Given the description of an element on the screen output the (x, y) to click on. 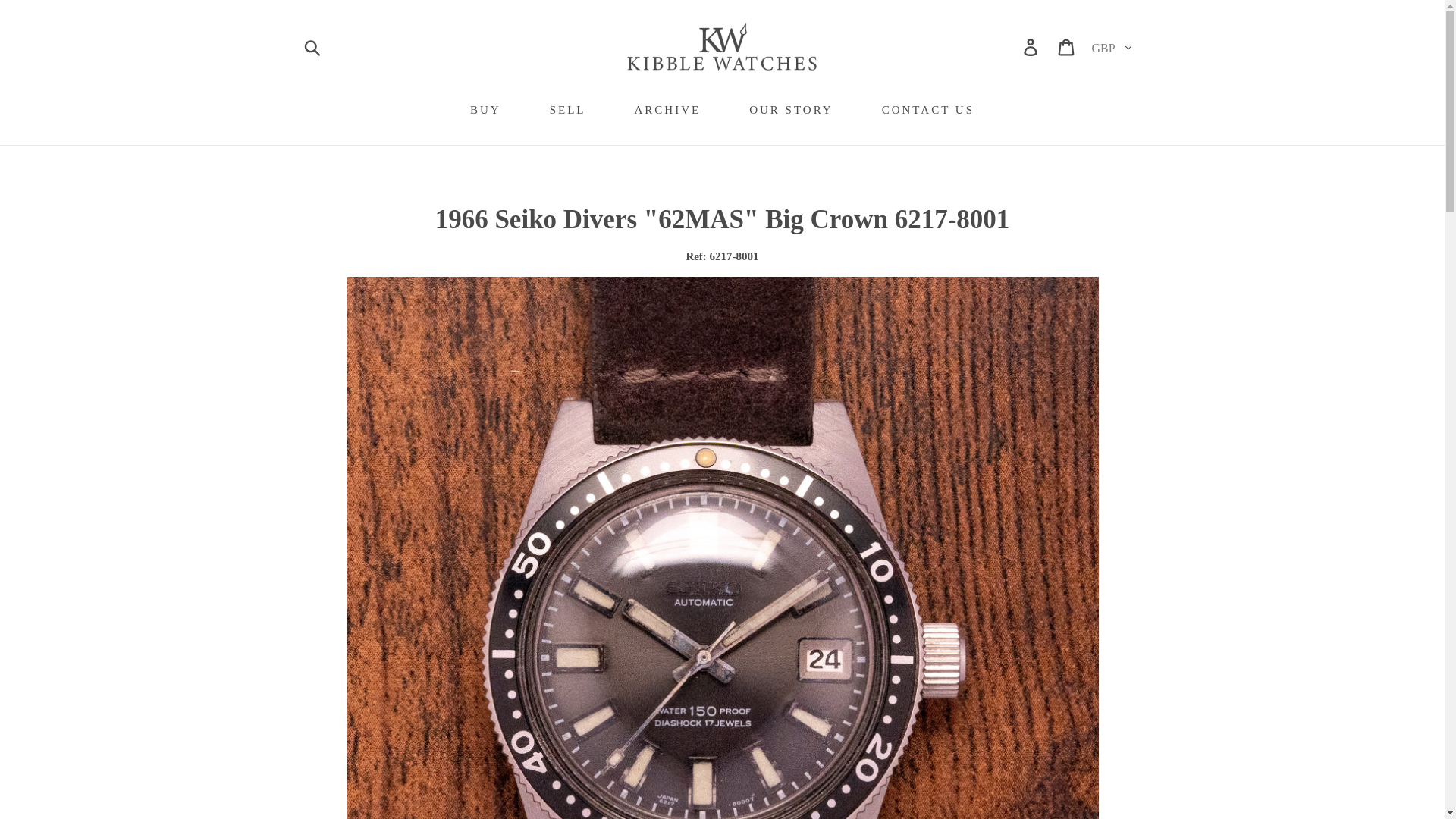
Cart (1066, 46)
OUR STORY (791, 111)
SELL (567, 111)
ARCHIVE (668, 111)
Log in (1031, 46)
Submit (312, 46)
BUY (485, 111)
CONTACT US (927, 111)
